Given the description of an element on the screen output the (x, y) to click on. 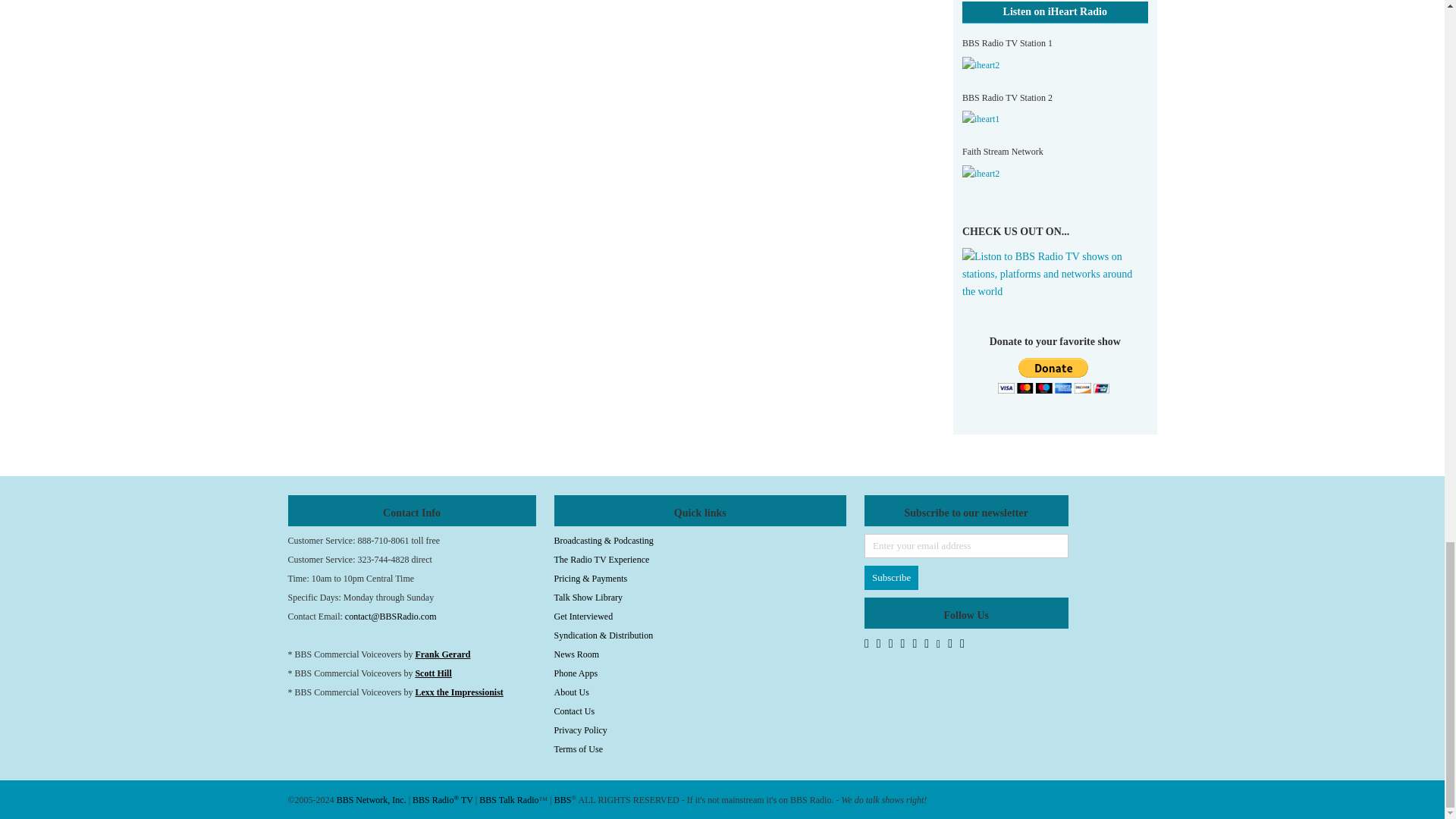
Subscribe (891, 577)
